Given the description of an element on the screen output the (x, y) to click on. 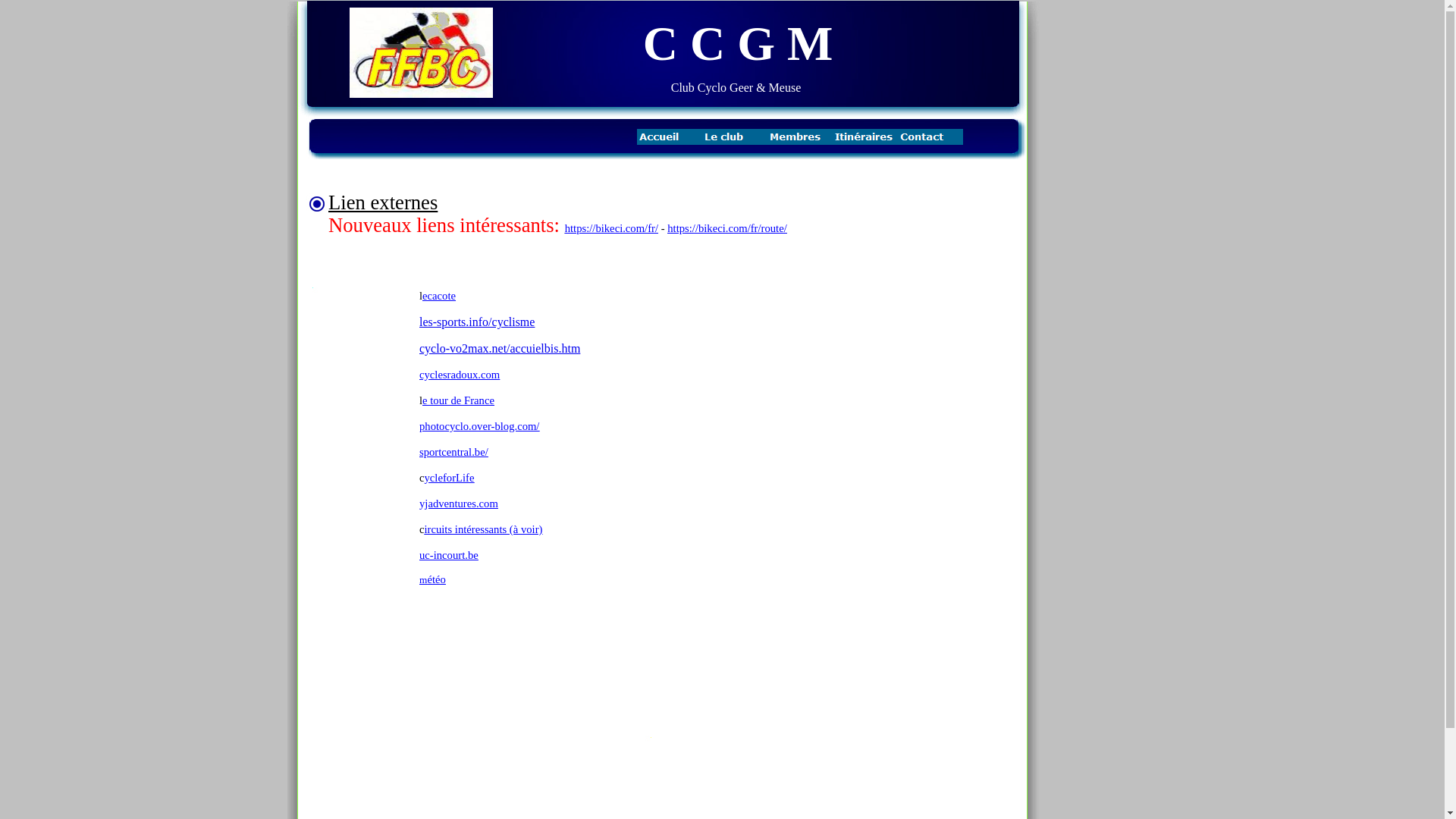
yjadventures.com Element type: text (458, 502)
les-sports.info/cyclisme Element type: text (476, 321)
cyclo-vo2max.net/accuielbis.htm Element type: text (499, 348)
sportcentral.be/ Element type: text (453, 451)
https://bikeci.com/fr/route/ Element type: text (727, 227)
https://bikeci.com/fr/ Element type: text (611, 227)
ecacote Element type: text (438, 294)
uc-incourt.be Element type: text (448, 554)
e tour de France Element type: text (458, 399)
photocyclo.over-blog.com/ Element type: text (479, 425)
ycleforLife Element type: text (449, 476)
cyclesradoux.com Element type: text (459, 373)
